Given the description of an element on the screen output the (x, y) to click on. 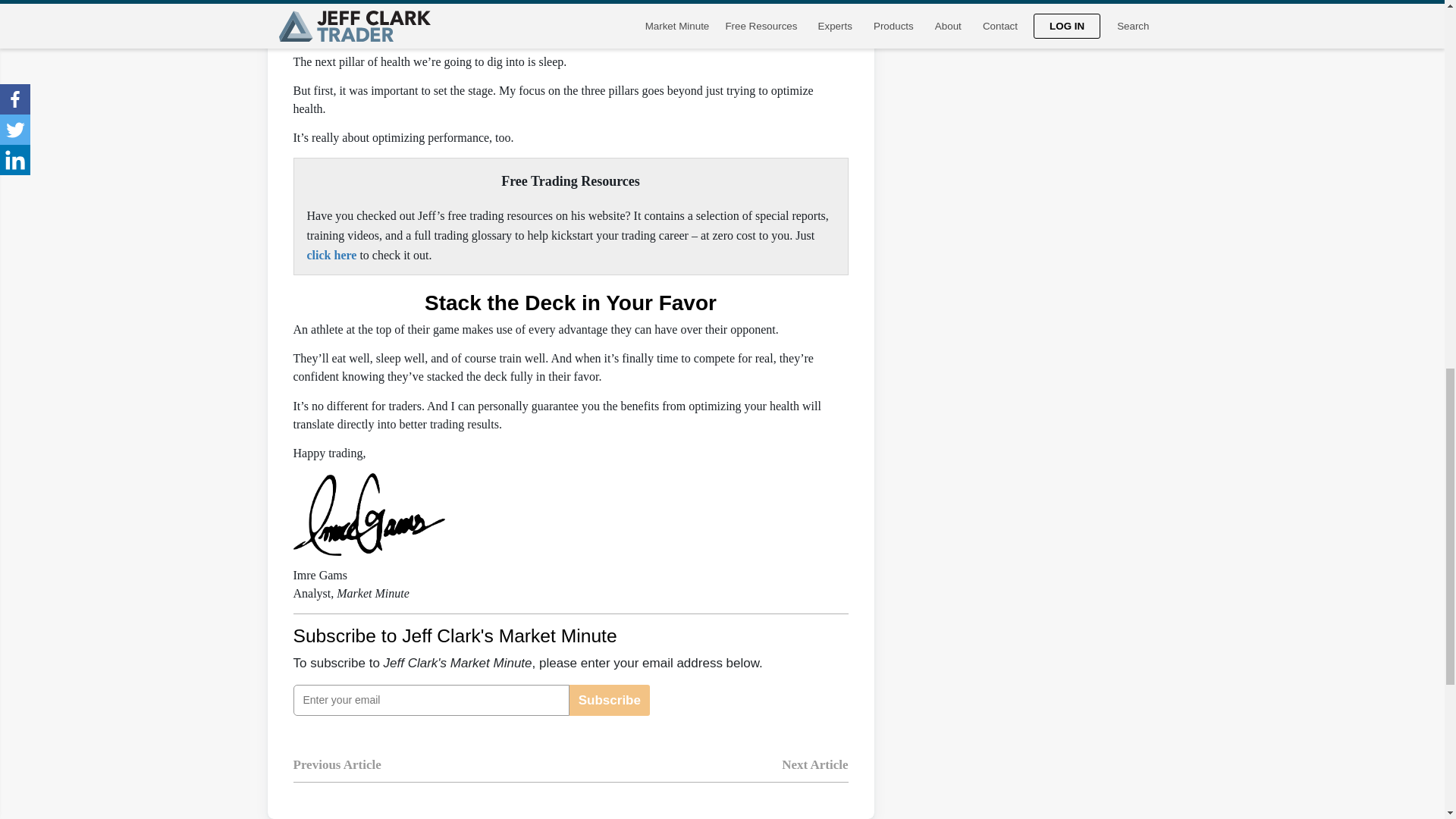
click here (330, 254)
Subscribe (609, 699)
Subscribe (609, 699)
Previous Article (336, 775)
Next Article (814, 775)
